Given the description of an element on the screen output the (x, y) to click on. 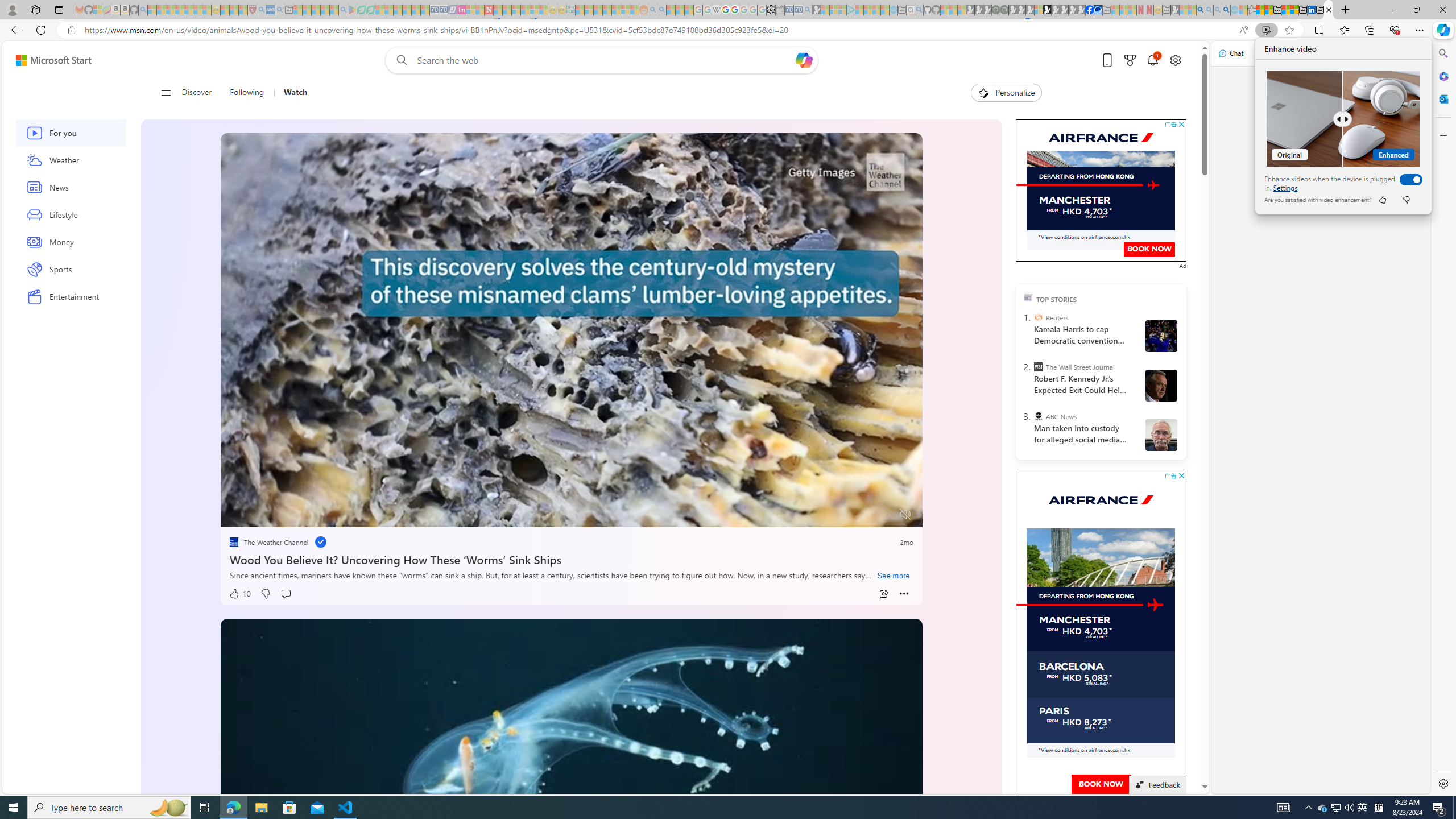
AutomationID: 4105 (1283, 807)
Jobs - lastminute.com Investor Portal - Sleeping (461, 9)
Class: at-item inline-watch (903, 593)
placeholder The Weather Channel (269, 542)
New tab - Sleeping (1165, 9)
Class: button-glyph (165, 92)
AQI & Health | AirNow.gov (1098, 9)
Captions (861, 514)
